Given the description of an element on the screen output the (x, y) to click on. 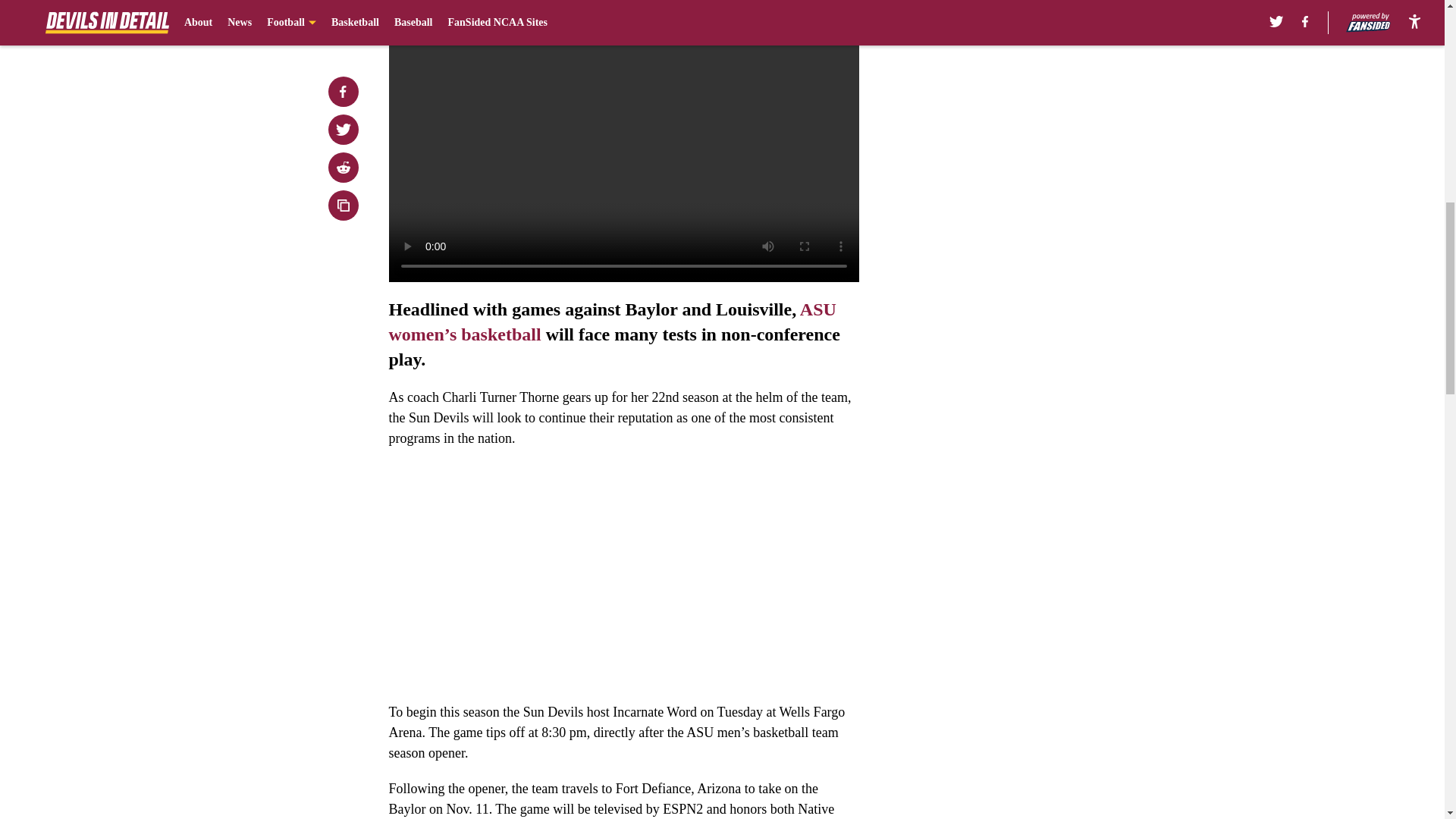
3rd party ad content (1047, 113)
3rd party ad content (1047, 332)
